Given the description of an element on the screen output the (x, y) to click on. 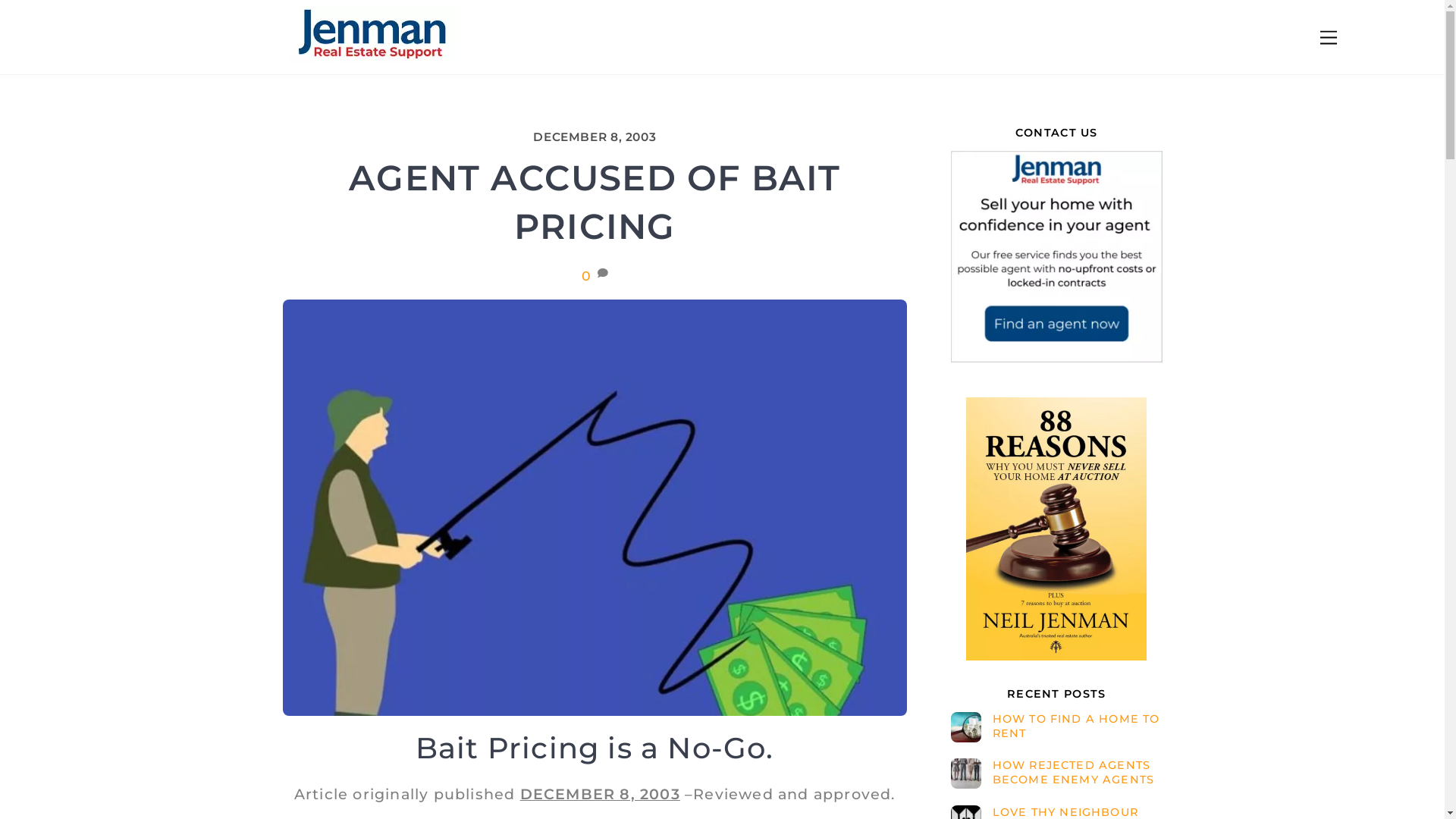
Jenman Real Estate Support short Element type: hover (371, 34)
Jenman Support Element type: hover (371, 55)
Paper house under a magnifying lens Element type: hover (965, 727)
HOW REJECTED AGENTS BECOME ENEMY AGENTS Element type: text (1055, 772)
0 Element type: text (586, 275)
AGENT ACCUSED OF BAIT PRICING Element type: text (594, 202)
Menu Element type: text (1328, 37)
Jenman Rejected Agents V2 Element type: hover (965, 773)
Contact Us Element type: hover (1055, 255)
HOW TO FIND A HOME TO RENT Element type: text (1055, 726)
money-3253835_960_720 Element type: hover (594, 507)
